Given the description of an element on the screen output the (x, y) to click on. 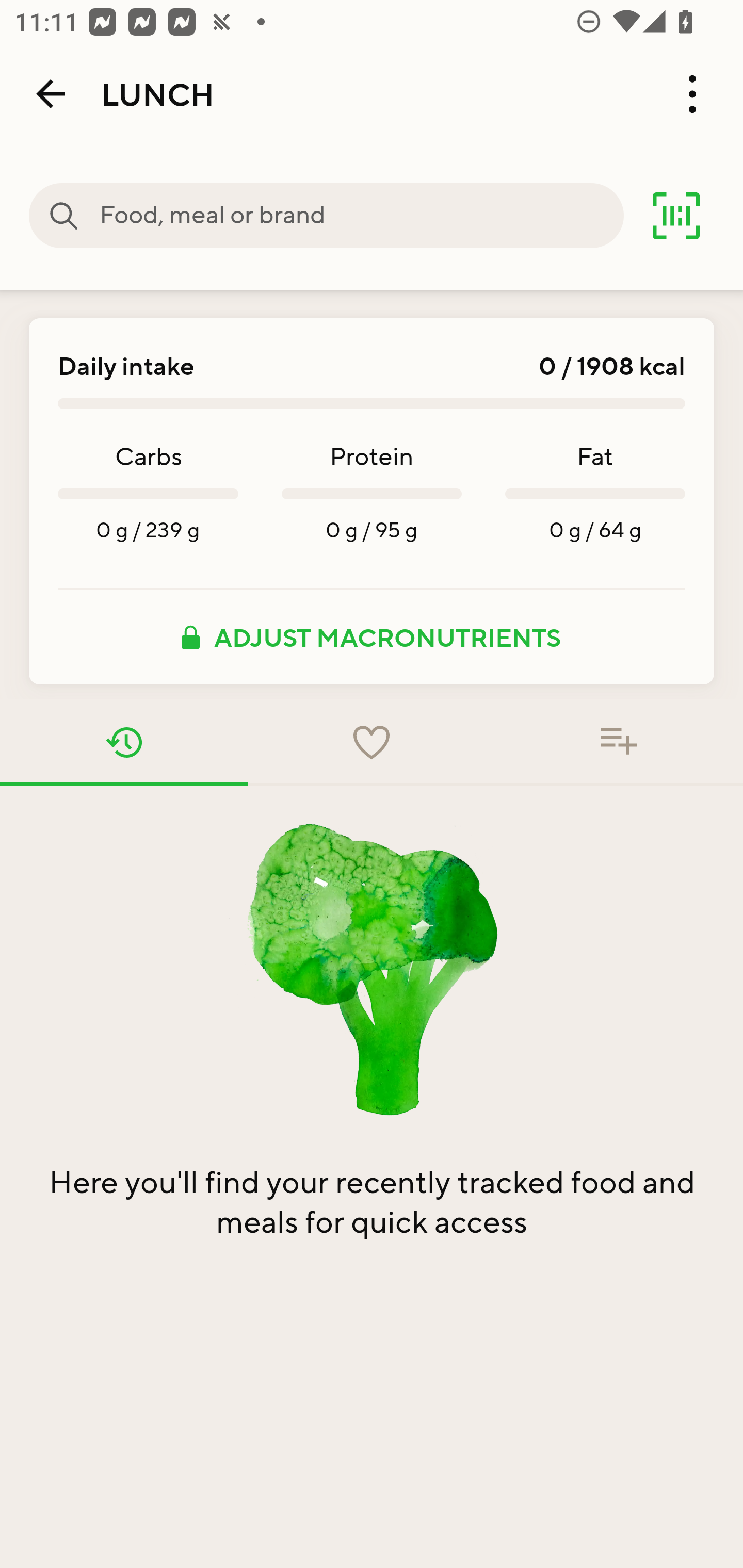
Back (50, 93)
Food, meal or brand (63, 215)
Food, meal or brand (361, 215)
ADJUST MACRONUTRIENTS (371, 637)
Favorites (371, 742)
Food added (619, 742)
